Given the description of an element on the screen output the (x, y) to click on. 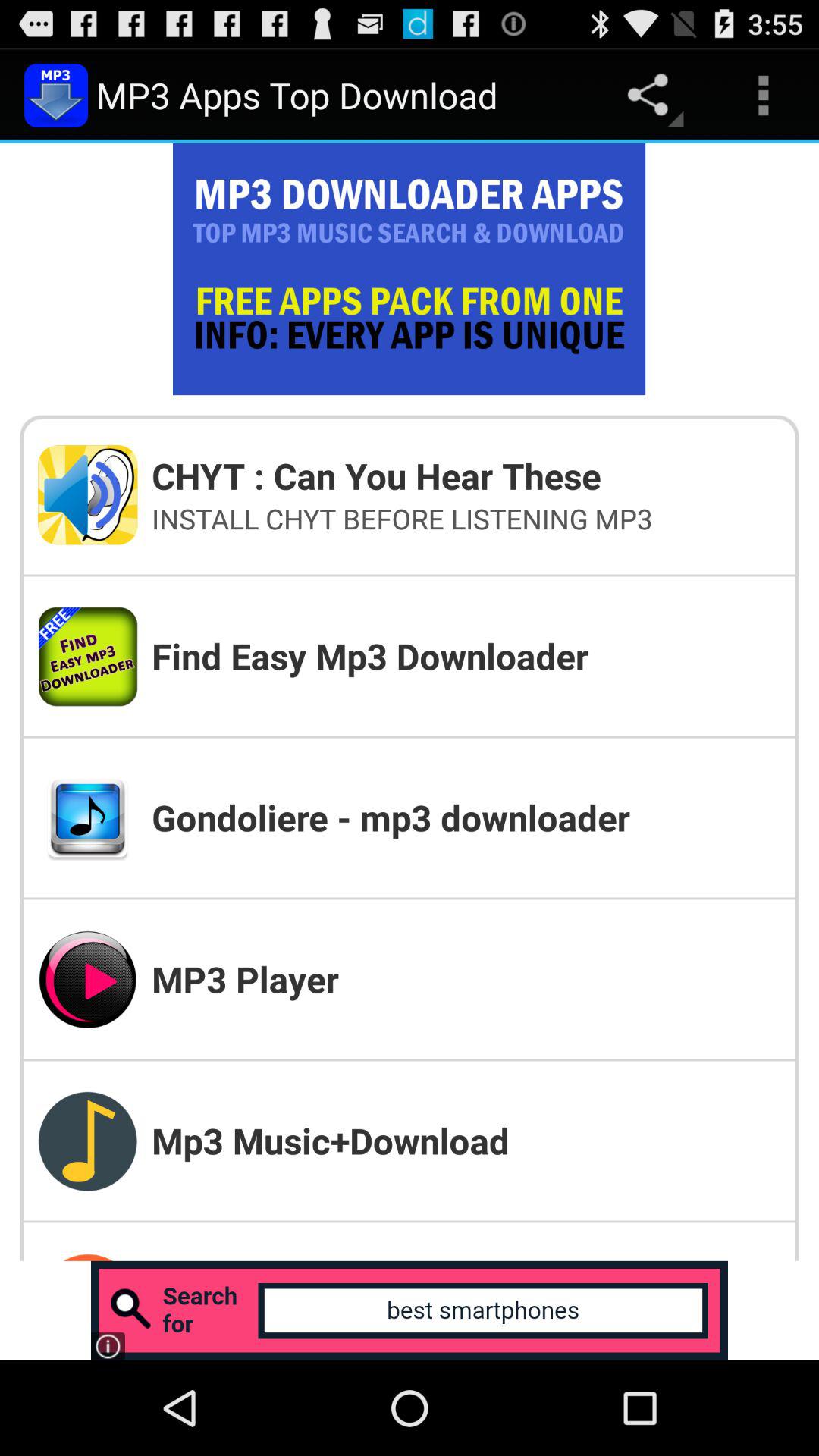
choose app below the find easy mp3 icon (465, 817)
